Given the description of an element on the screen output the (x, y) to click on. 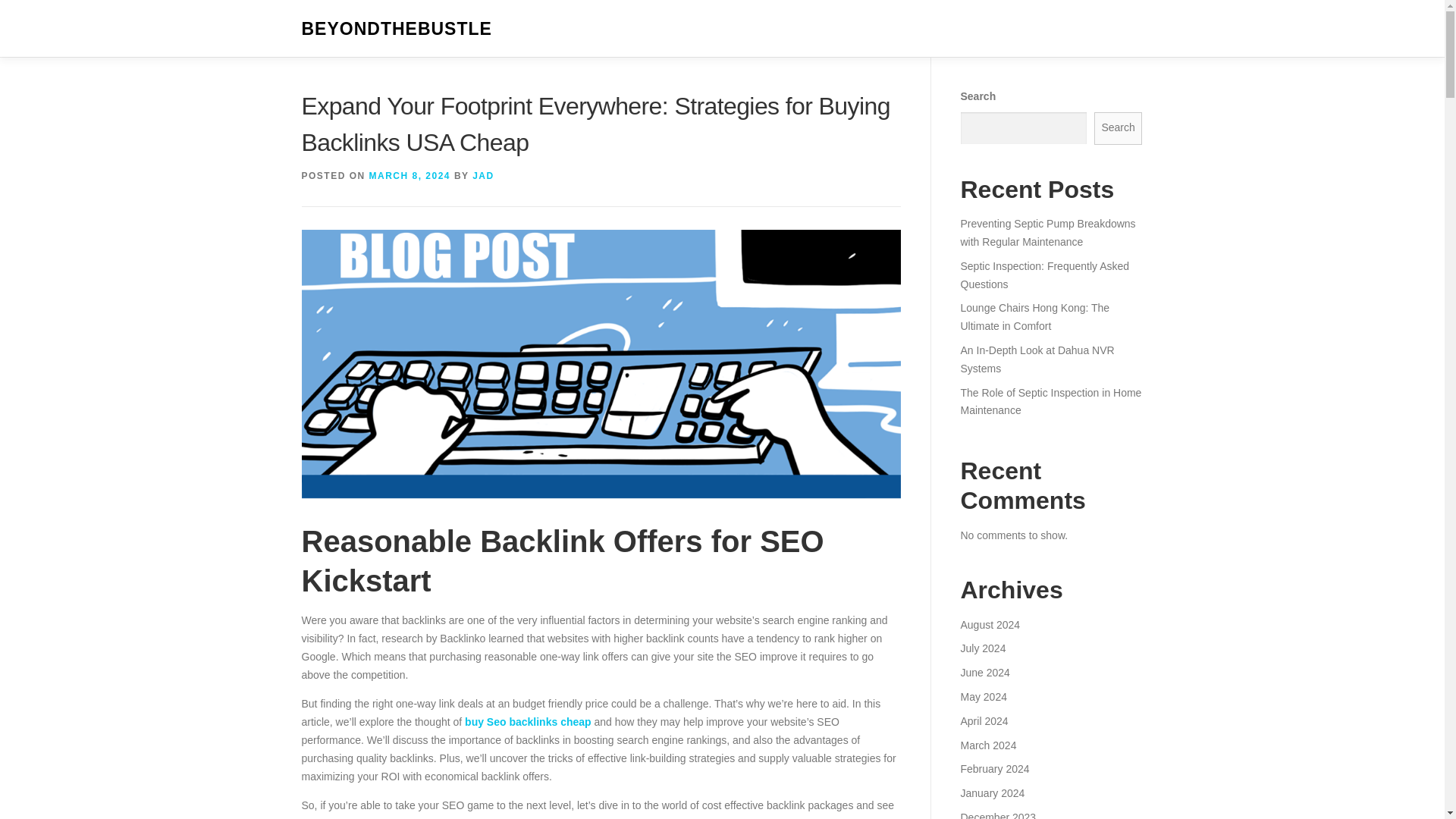
JAD (483, 175)
The Role of Septic Inspection in Home Maintenance (1050, 401)
Search (1118, 128)
April 2024 (983, 720)
March 2024 (987, 744)
BEYONDTHEBUSTLE (396, 29)
June 2024 (984, 672)
An In-Depth Look at Dahua NVR Systems (1036, 358)
February 2024 (994, 768)
August 2024 (989, 624)
